Given the description of an element on the screen output the (x, y) to click on. 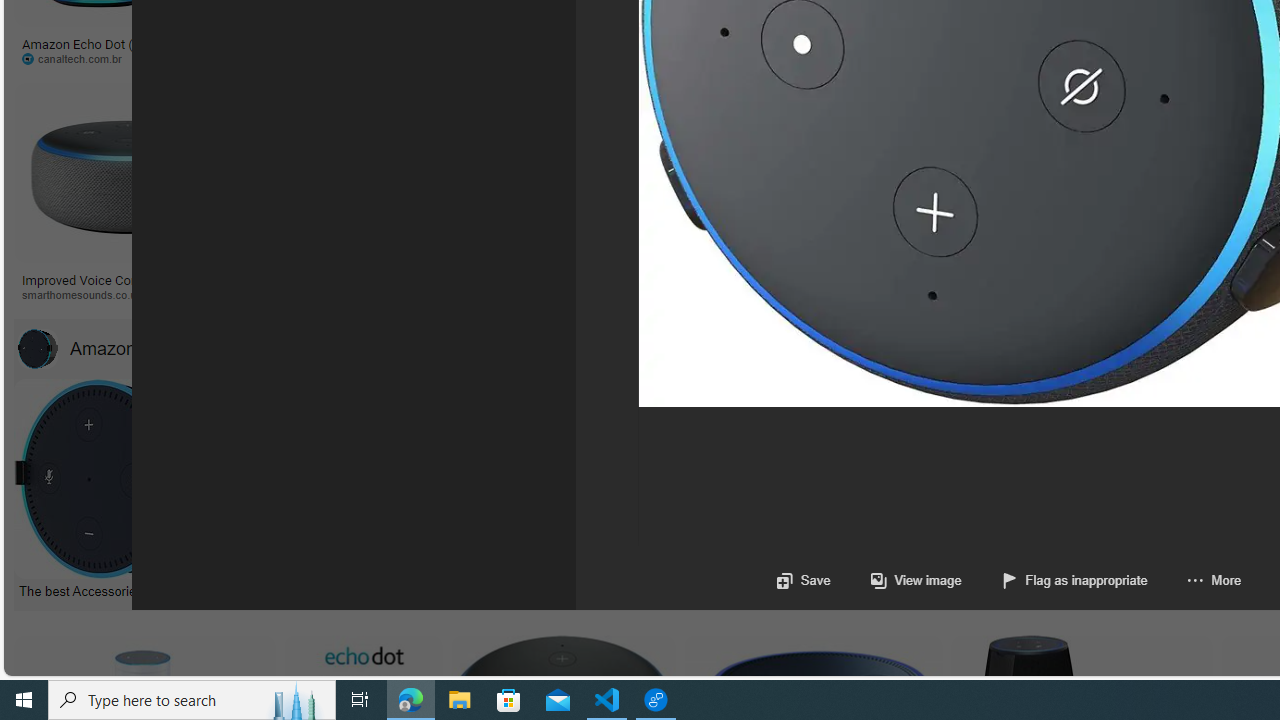
security.org (294, 294)
Image result for Amazon Echo Dot PNG (944, 172)
Best Amazon Echo Accessories - Tech Advisor (534, 589)
croma.com (816, 57)
buynow.com.ec (1117, 58)
mediamarkt.de (945, 295)
View image (916, 580)
